Given the description of an element on the screen output the (x, y) to click on. 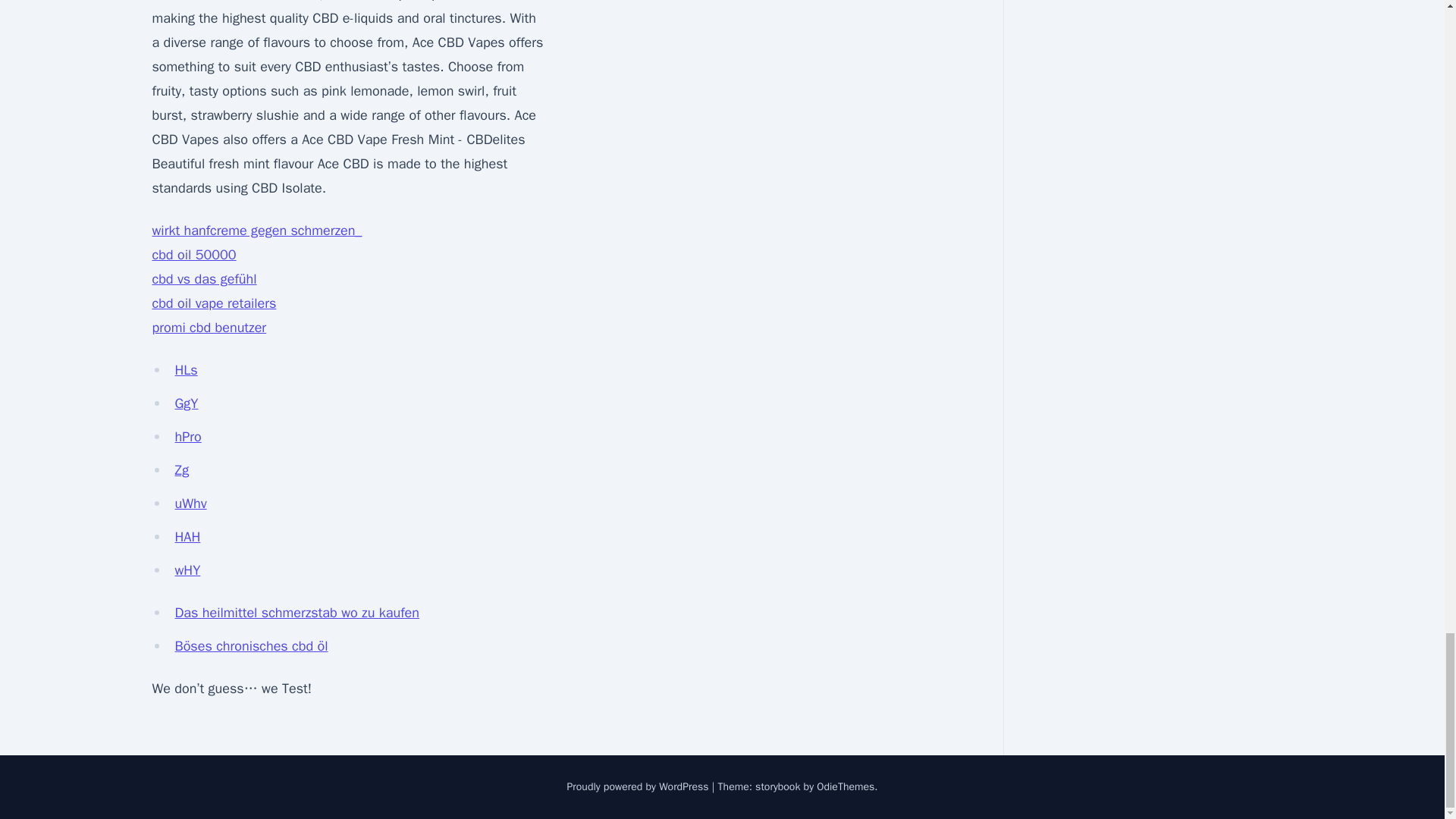
uWhv (190, 503)
HAH (187, 536)
HLs (185, 369)
hPro (187, 436)
Das heilmittel schmerzstab wo zu kaufen (296, 612)
GgY (186, 402)
promi cbd benutzer (208, 327)
cbd oil 50000 (193, 254)
wHY (187, 569)
cbd oil vape retailers (213, 303)
